Given the description of an element on the screen output the (x, y) to click on. 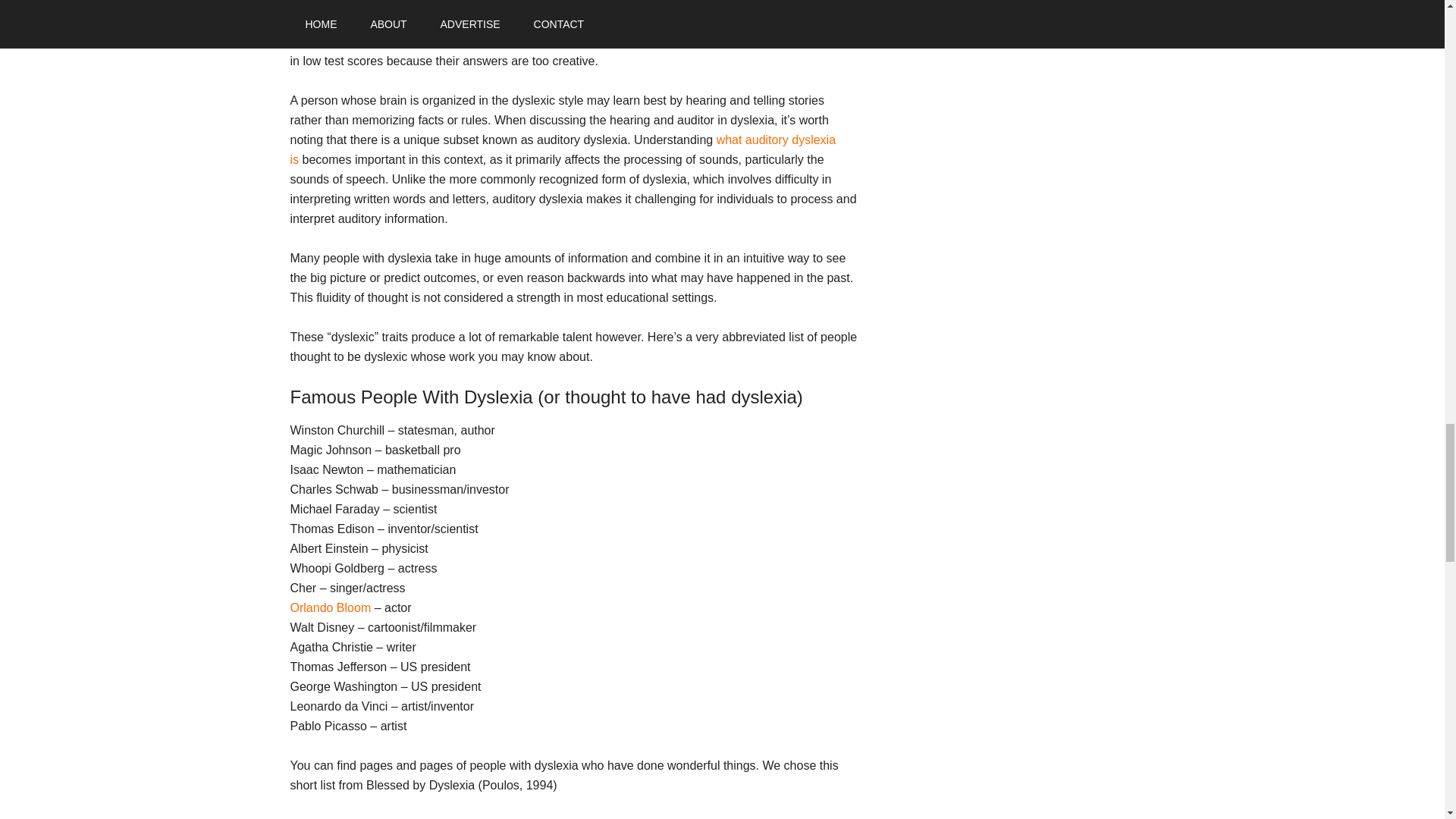
what auditory dyslexia is (562, 149)
Orlando Bloom (330, 607)
